Given the description of an element on the screen output the (x, y) to click on. 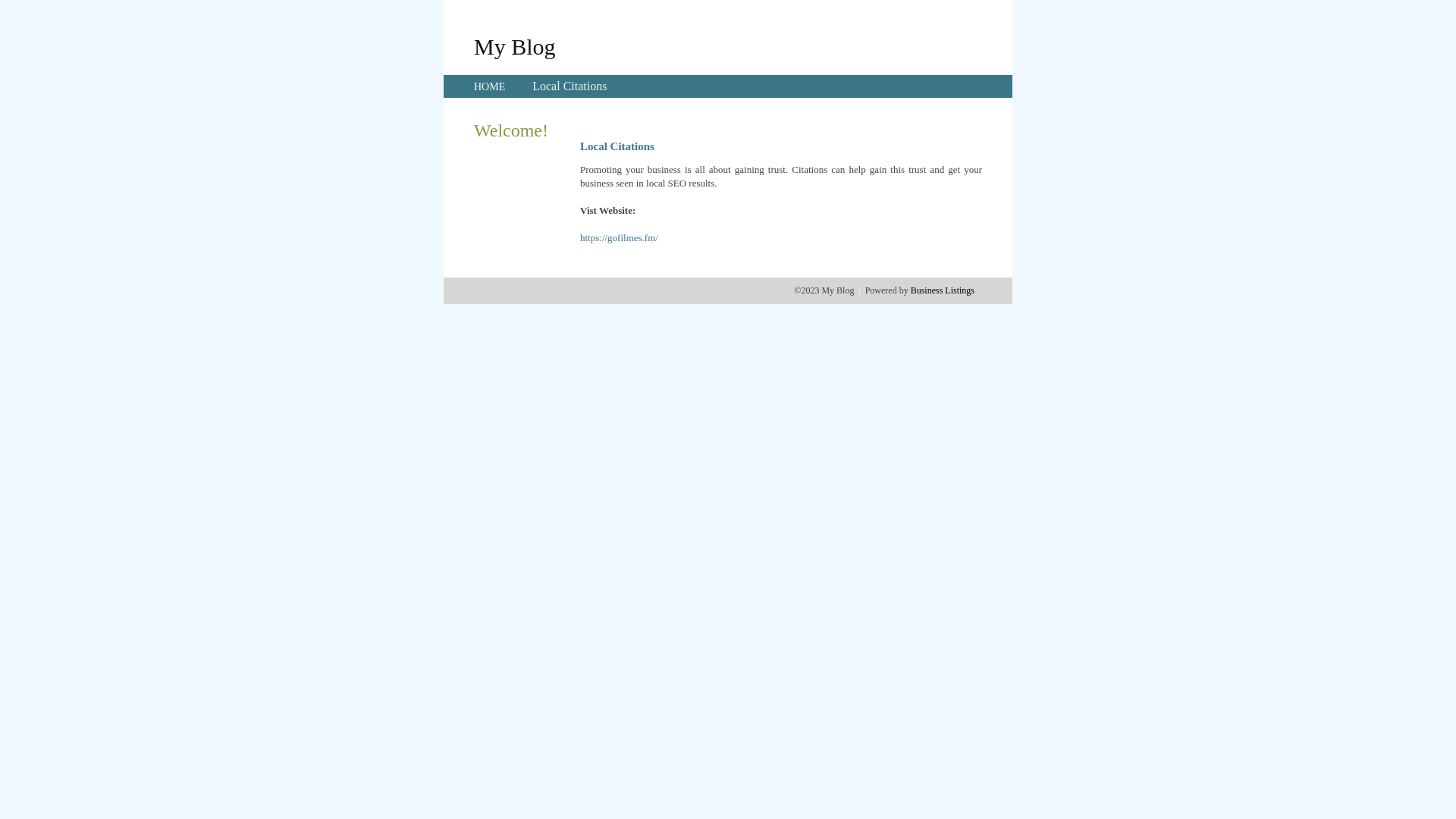
My Blog Element type: text (514, 46)
HOME Element type: text (489, 86)
https://gofilmes.fm/ Element type: text (619, 237)
Local Citations Element type: text (569, 85)
Business Listings Element type: text (942, 290)
